Given the description of an element on the screen output the (x, y) to click on. 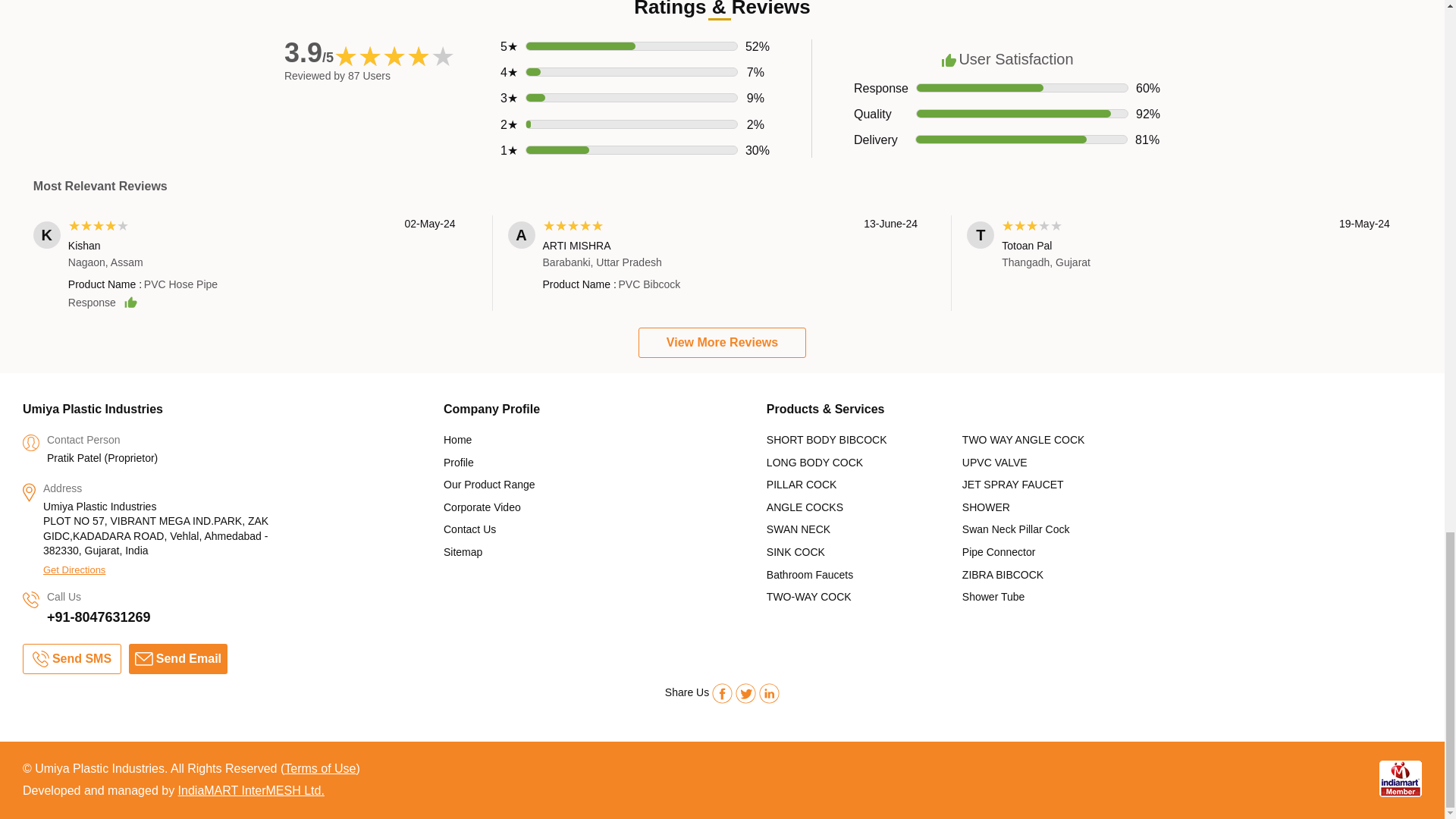
3.9 out of 5 Votes (308, 51)
